Given the description of an element on the screen output the (x, y) to click on. 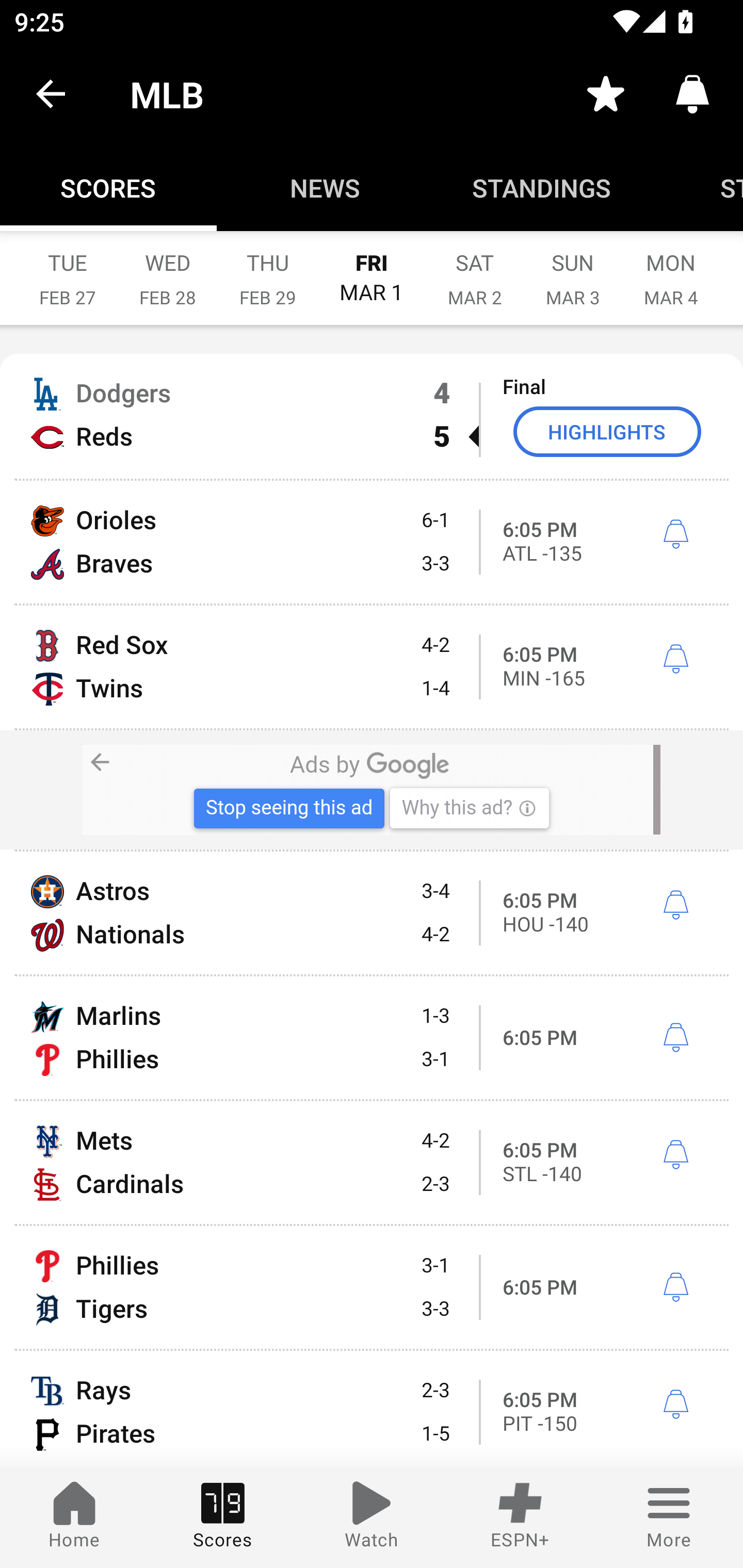
back.button (50, 93)
Favorite toggle (605, 93)
Alerts (692, 93)
News NEWS (324, 187)
Standings STANDINGS (541, 187)
TUE FEB 27 (67, 268)
WED FEB 28 (167, 268)
THU FEB 29 (267, 268)
FRI MAR 1 (371, 267)
SAT MAR 2 (474, 268)
SUN MAR 3 (572, 268)
MON MAR 4 (670, 268)
Dodgers 4 Final Reds 5  HIGHLIGHTS (371, 416)
HIGHLIGHTS (607, 431)
Orioles 6-1 Braves 3-3 6:05 PM ATL -135 í (371, 542)
í (675, 534)
Red Sox 4-2 Twins 1-4 6:05 PM MIN -165 í (371, 666)
í (675, 658)
Astros 3-4 Nationals 4-2 6:05 PM HOU -140 í (371, 912)
í (675, 905)
Marlins 1-3 Phillies 3-1 6:05 PM í (371, 1037)
í (675, 1037)
Mets 4-2 Cardinals 2-3 6:05 PM STL -140 í (371, 1162)
í (675, 1154)
Phillies 3-1 Tigers 3-3 6:05 PM í (371, 1287)
í (675, 1287)
Rays 2-3 Pirates 1-5 6:05 PM PIT -150 í (371, 1409)
í (675, 1404)
Home (74, 1517)
Watch (371, 1517)
ESPN+ (519, 1517)
More (668, 1517)
